Given the description of an element on the screen output the (x, y) to click on. 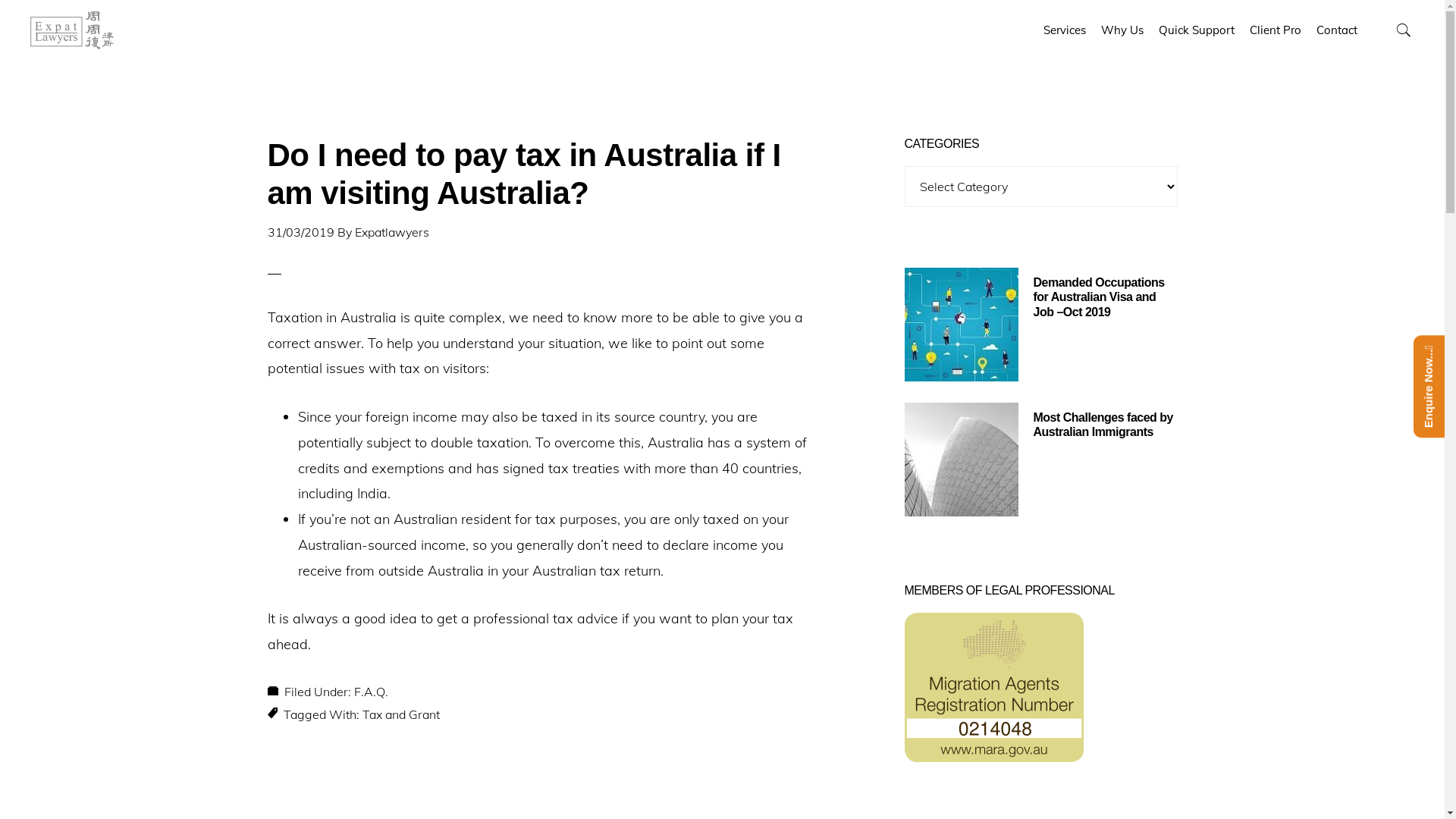
Skip to primary navigation Element type: text (0, 0)
Quick Support Element type: text (1196, 29)
LEGAL NOTICE Element type: text (707, 776)
PRIVACY Element type: text (759, 776)
Most Challenges faced by Australian Immigrants Element type: text (1102, 424)
Services Element type: text (1064, 29)
SUPPORT Element type: text (653, 776)
CONTACT US Element type: text (809, 776)
Tax and Grant Element type: text (400, 713)
F.A.Q. Element type: text (370, 691)
Why Us Element type: text (1122, 29)
Show Search Element type: text (1403, 29)
SERVICES Element type: text (606, 776)
LAWYERS EMPOWERING IMMIGRANTS AU Element type: text (80, 30)
Expatlawyers Element type: text (391, 231)
Contact Element type: text (1336, 29)
Client Pro Element type: text (1275, 29)
